Given the description of an element on the screen output the (x, y) to click on. 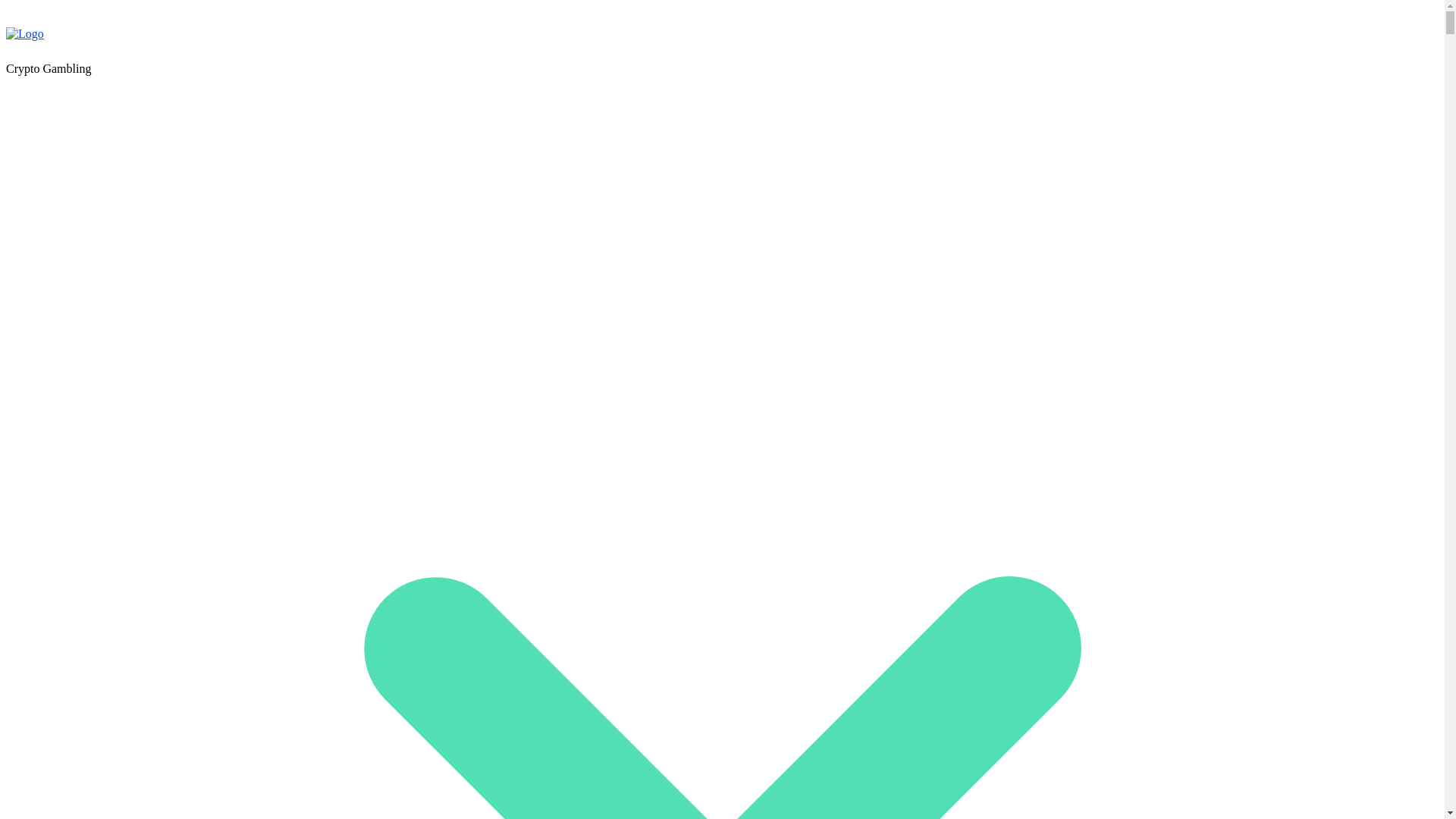
Logo (24, 33)
